Given the description of an element on the screen output the (x, y) to click on. 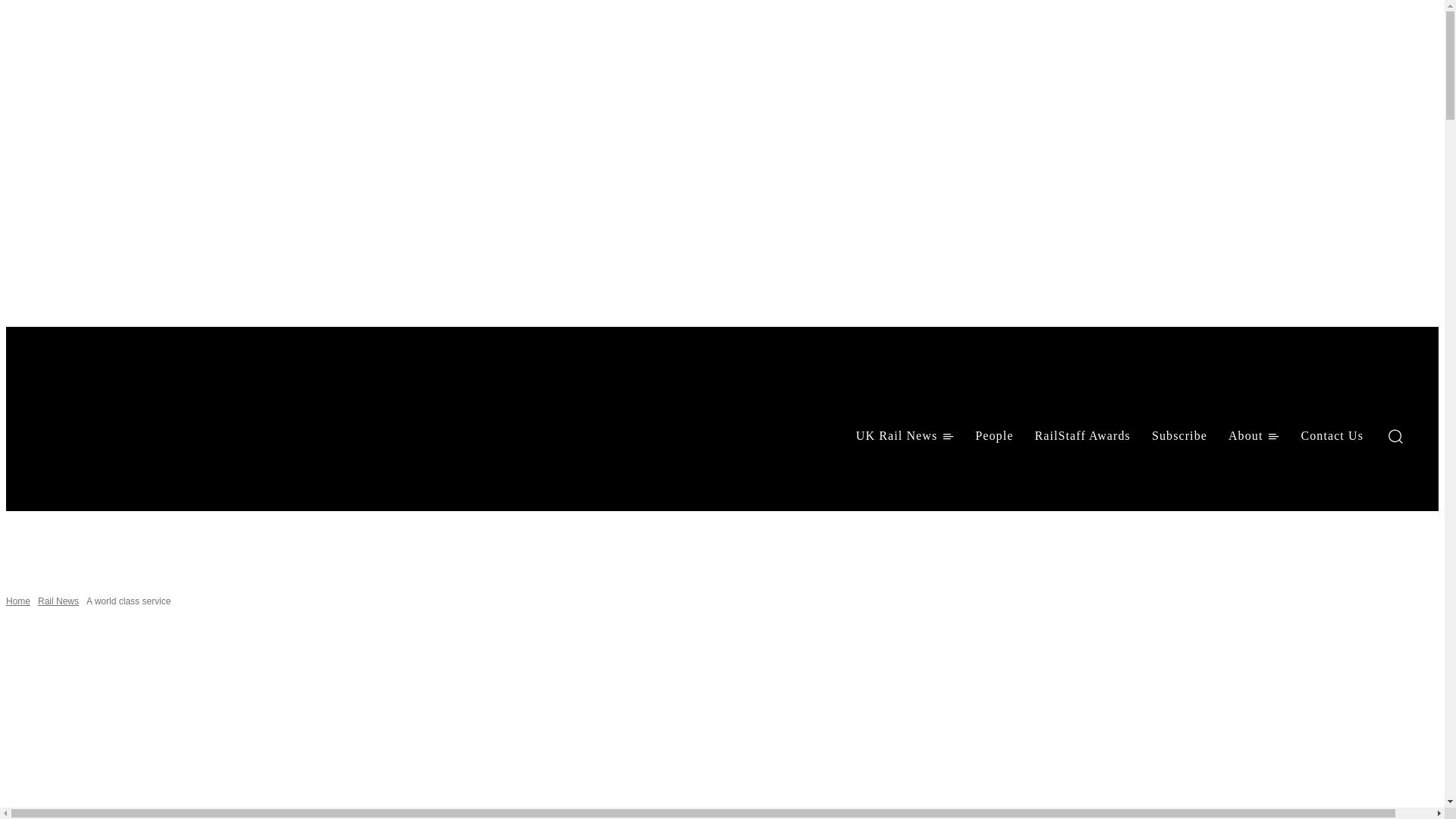
View all posts in Rail News (57, 601)
Linkedin (83, 476)
Twitter (122, 476)
People (993, 434)
UK Rail News (904, 434)
Facebook (44, 476)
